Given the description of an element on the screen output the (x, y) to click on. 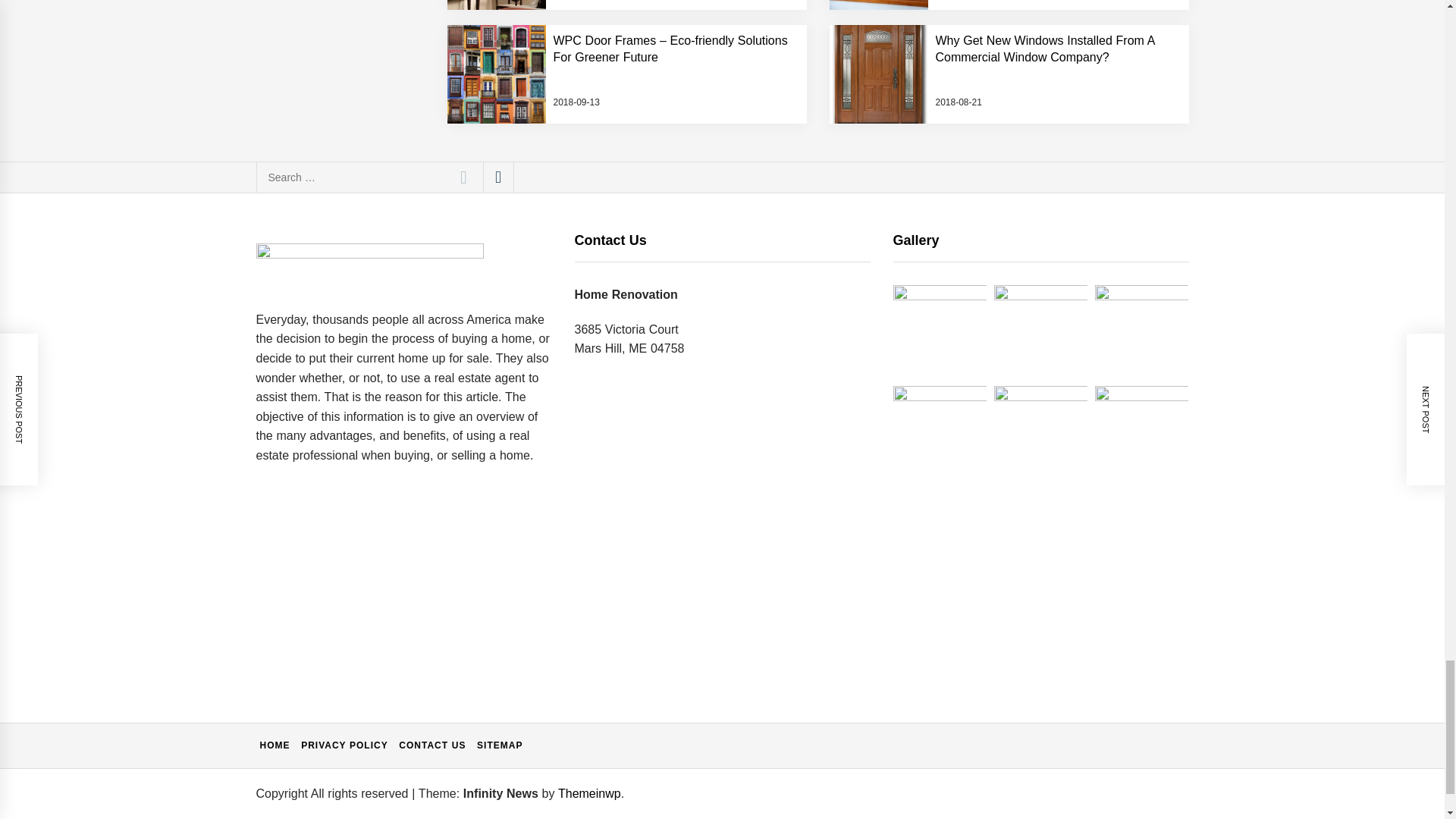
Search (462, 177)
Search (462, 177)
